Given the description of an element on the screen output the (x, y) to click on. 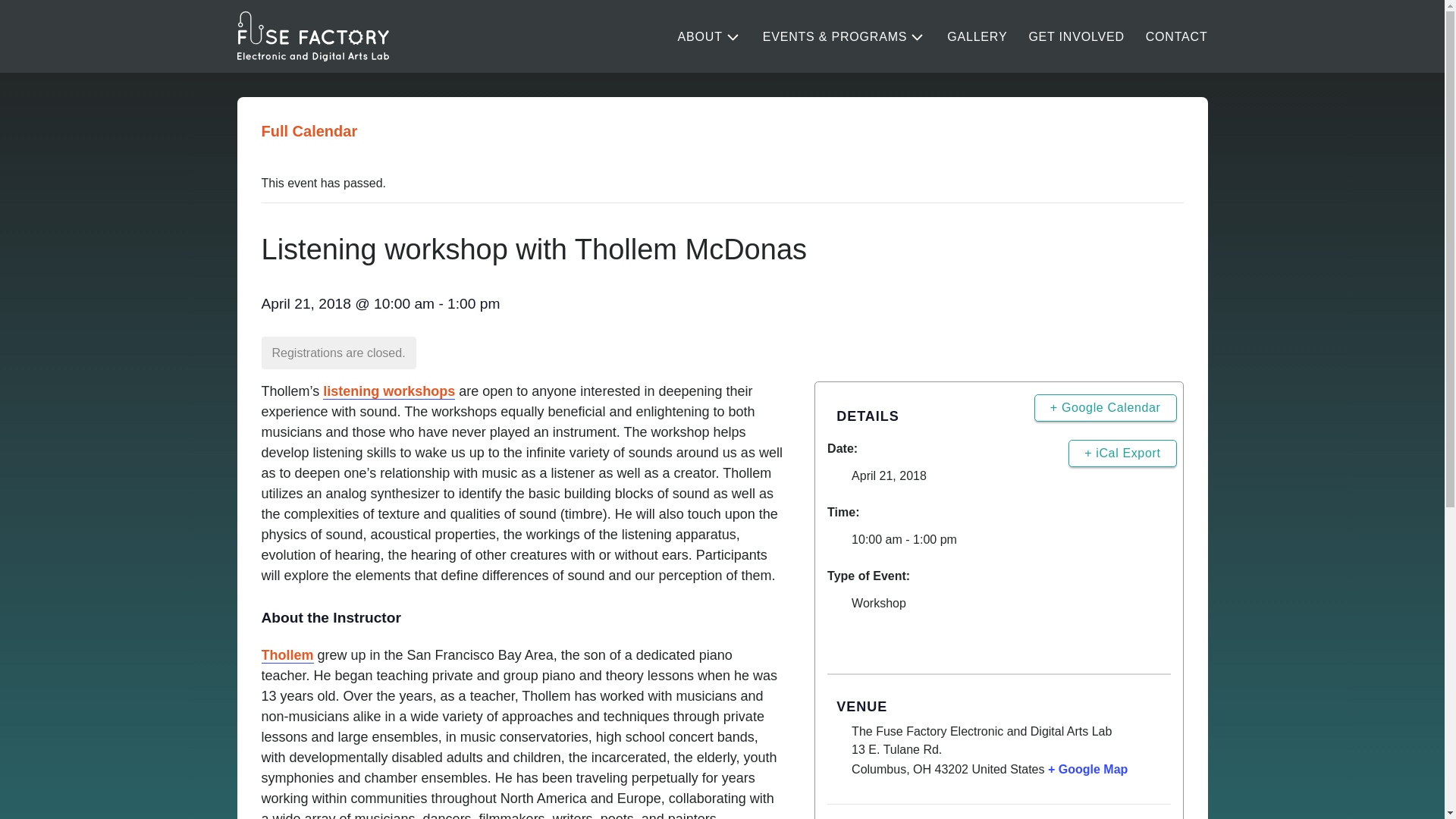
Click to view a Google Map (1087, 768)
2018-04-21 (998, 539)
GET INVOLVED (1075, 37)
Thollem (286, 655)
Add to Google Calendar (1104, 407)
Ohio (921, 768)
Fuse Factory (311, 36)
Full Calendar (308, 130)
CONTACT (1176, 37)
2018-04-21 (888, 475)
